Given the description of an element on the screen output the (x, y) to click on. 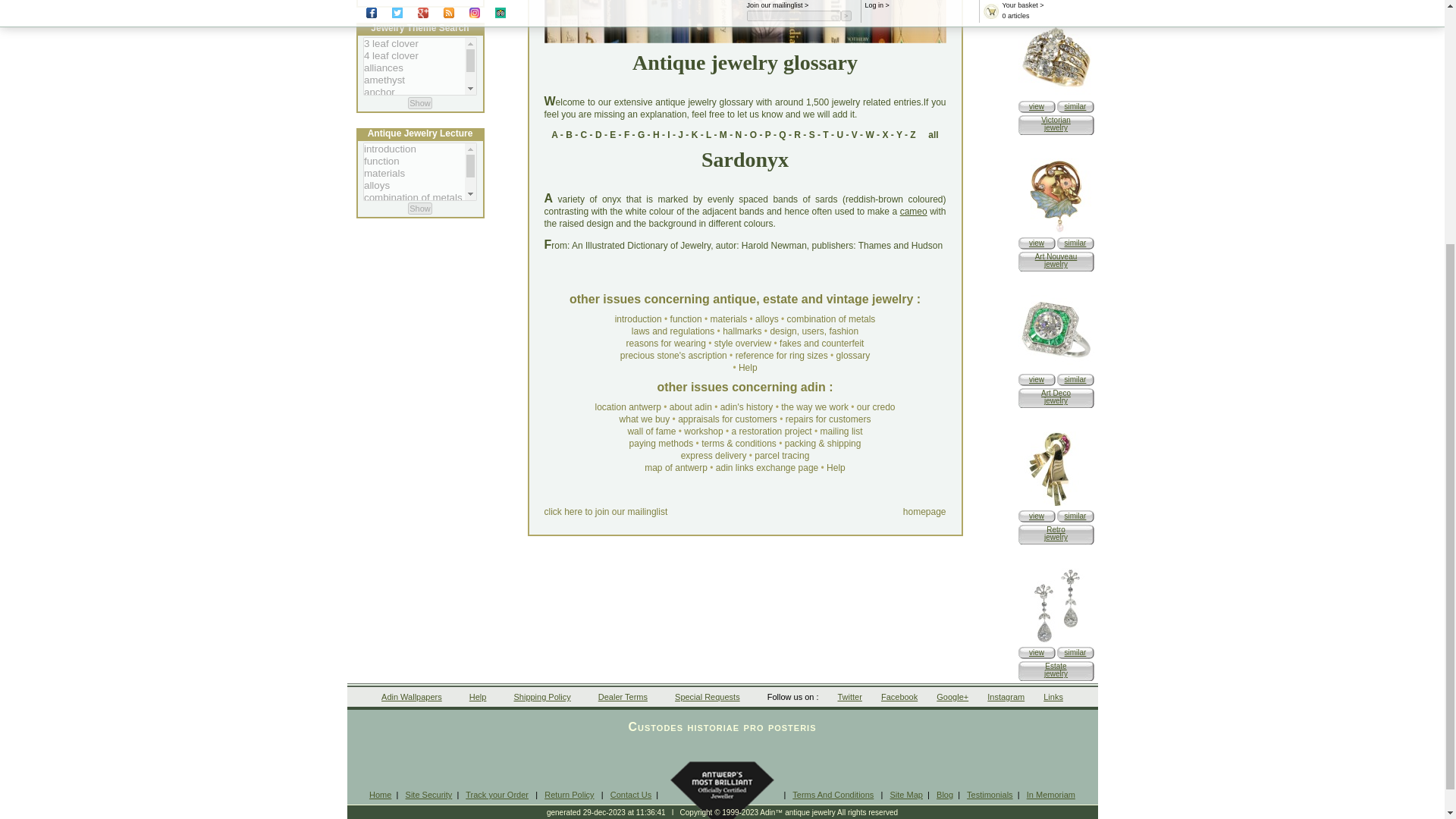
More Retro jewelry (1075, 515)
Show (419, 208)
More info on this Retro jewel (1055, 504)
Show (419, 102)
More info on this Art Nouveau jewel (1055, 231)
more victorian jewelry (1075, 106)
More Estate jewelry (1075, 652)
More info on this Art Deco jewel (1036, 379)
More info on this Art Nouveau jewel (1036, 243)
More Art Deco jewelry (1075, 379)
